Given the description of an element on the screen output the (x, y) to click on. 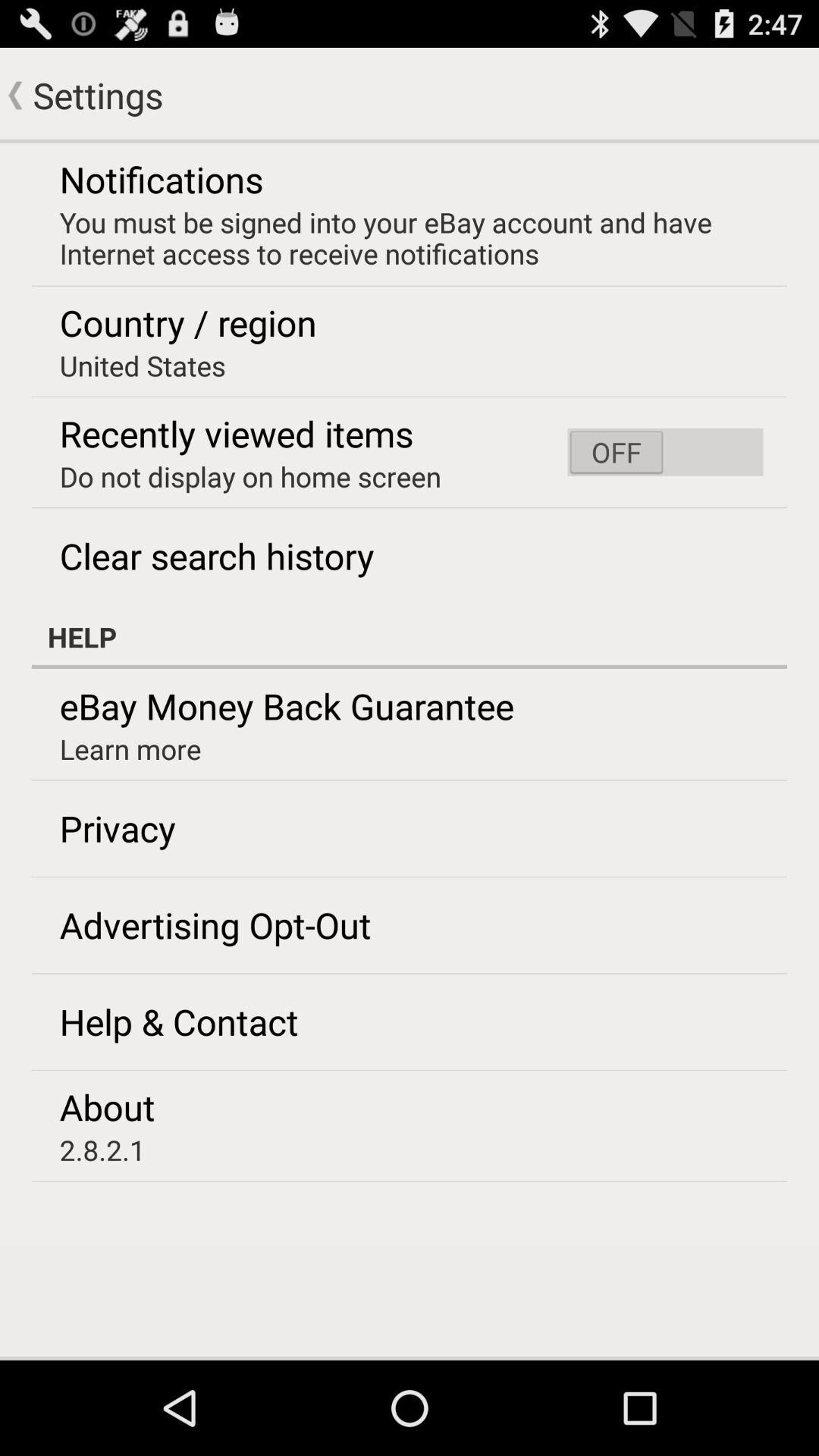
scroll until do not display item (250, 476)
